Given the description of an element on the screen output the (x, y) to click on. 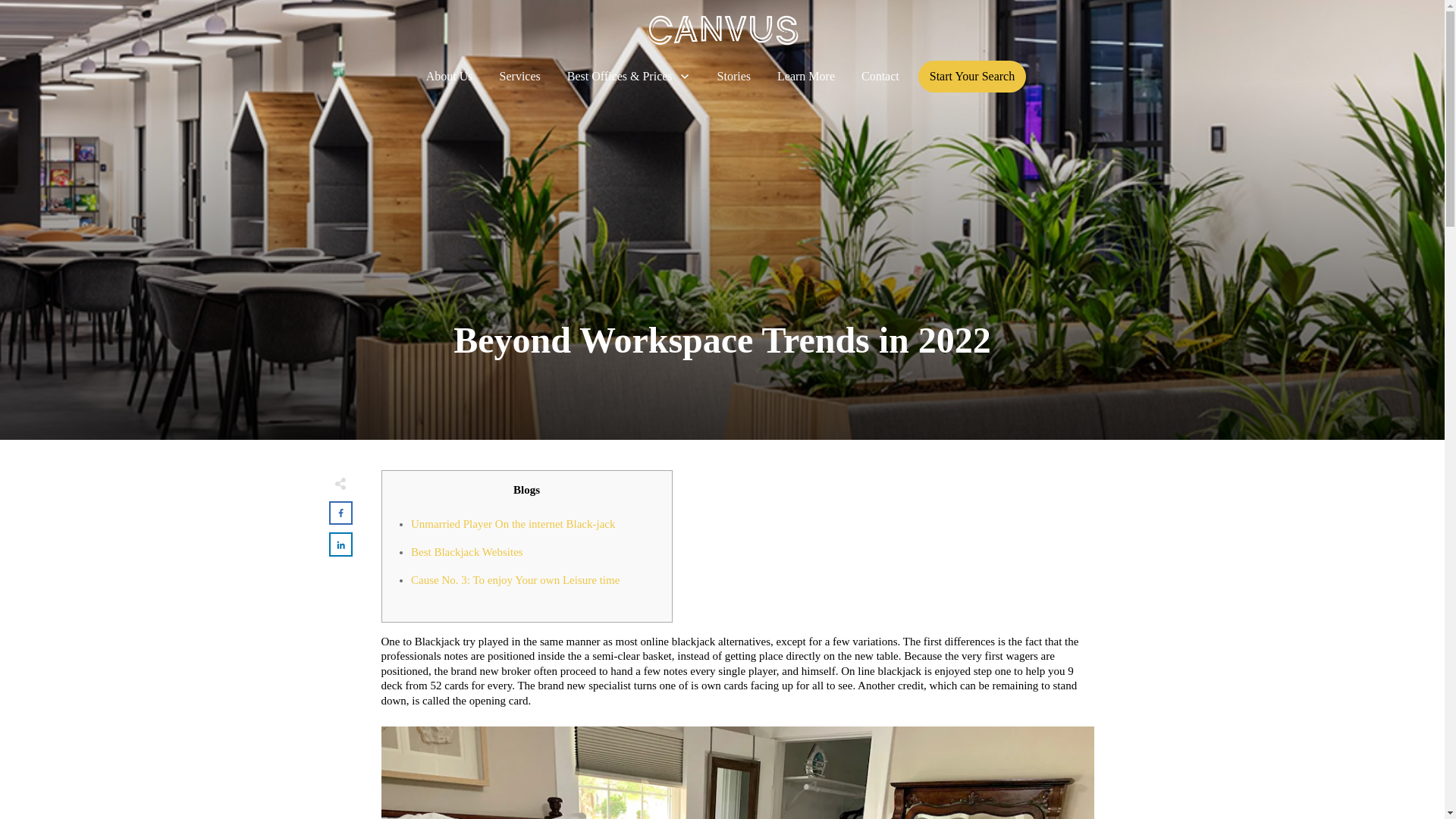
Unmarried Player On the internet Black-jack (512, 522)
Learn More (805, 76)
Stories (734, 76)
Cause No. 3: To enjoy Your own Leisure time (515, 579)
Best Blackjack Websites (466, 551)
Start Your Search (972, 76)
Contact (880, 76)
Services (519, 76)
CanvusLogoBlackTransparent (721, 30)
About Us (449, 76)
